Given the description of an element on the screen output the (x, y) to click on. 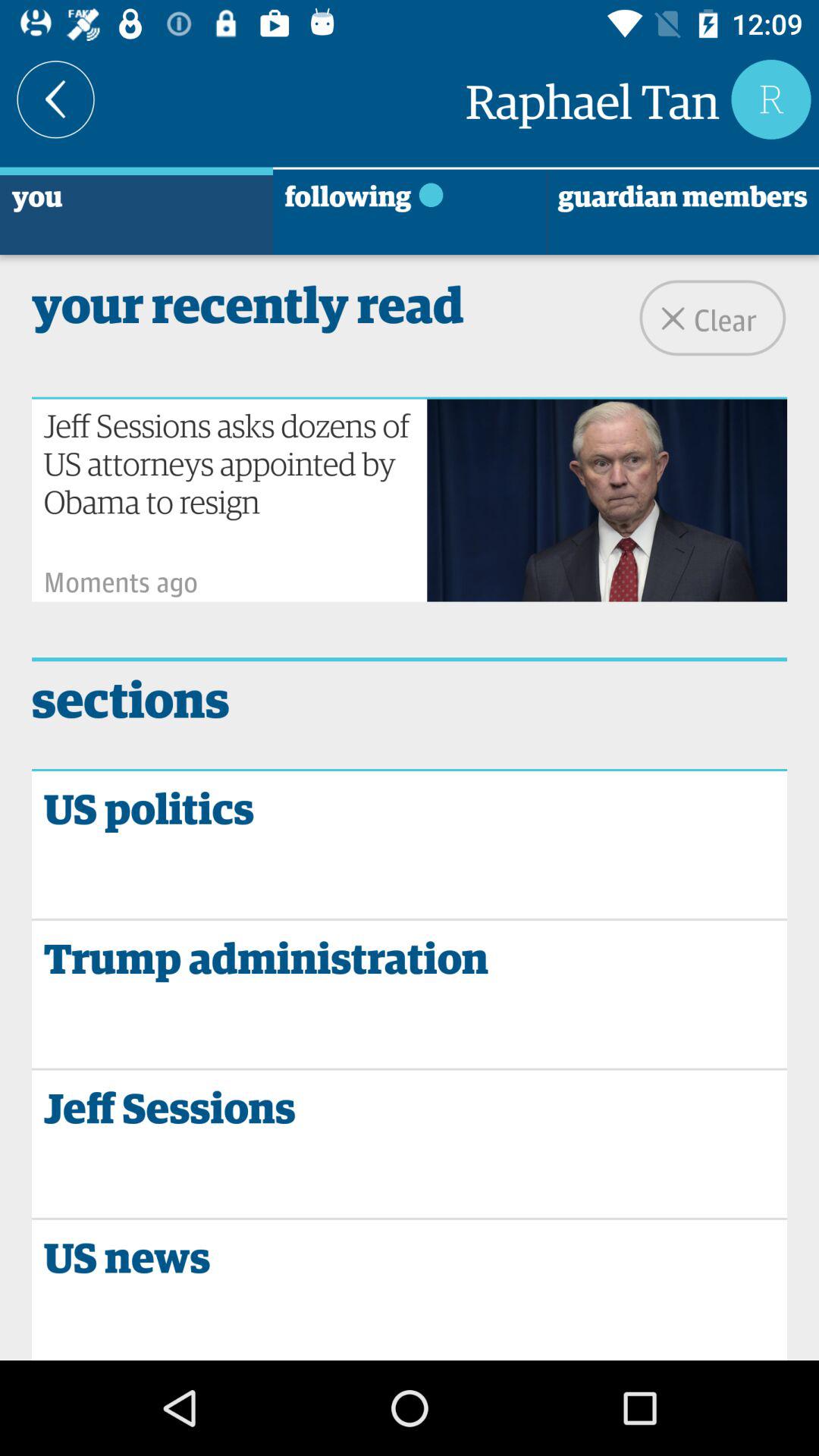
open item to the left of raphael tan icon (55, 99)
